Given the description of an element on the screen output the (x, y) to click on. 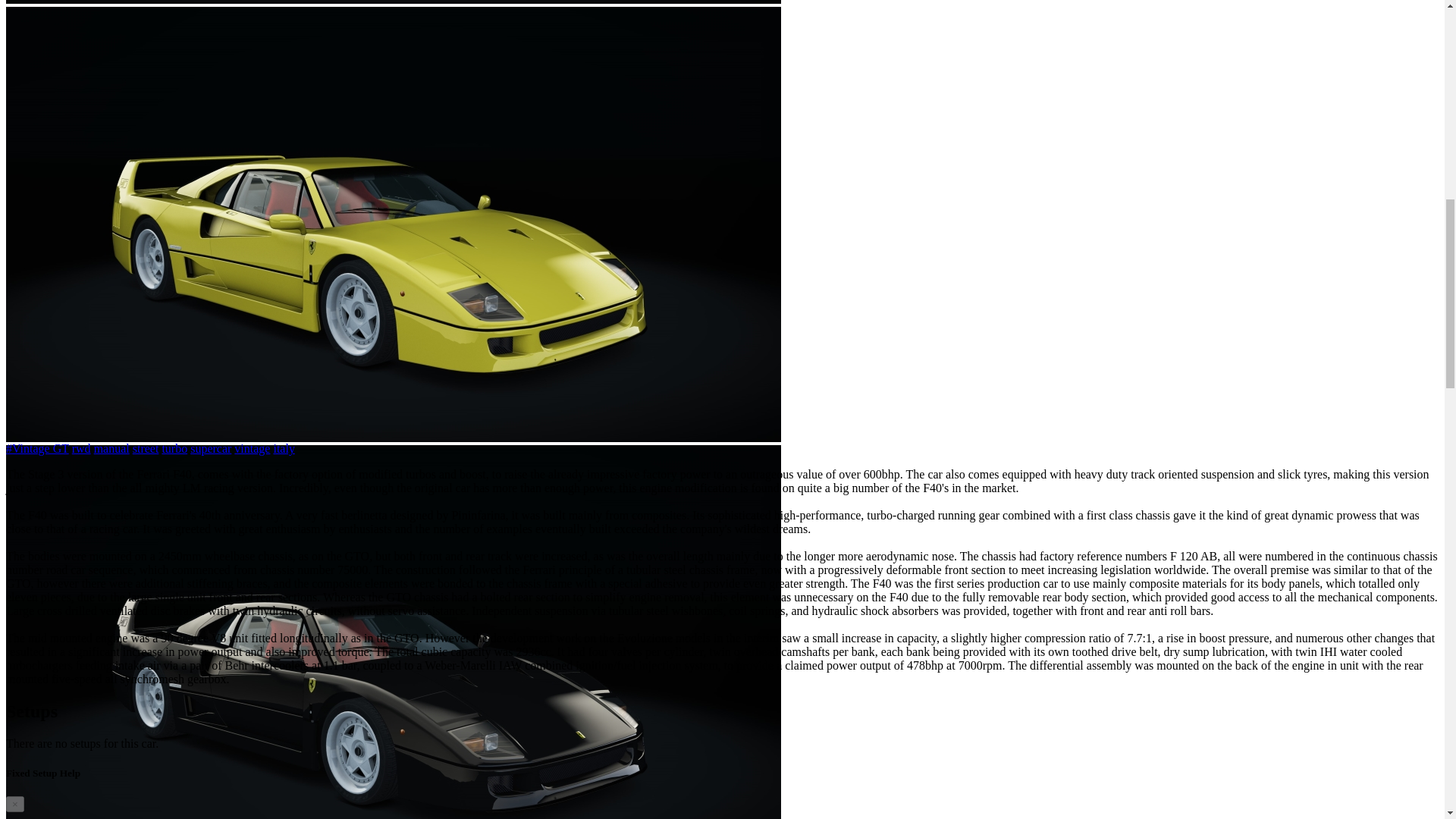
vintage (251, 448)
manual (111, 448)
turbo (174, 448)
italy (283, 448)
supercar (210, 448)
rwd (80, 448)
street (145, 448)
